Given the description of an element on the screen output the (x, y) to click on. 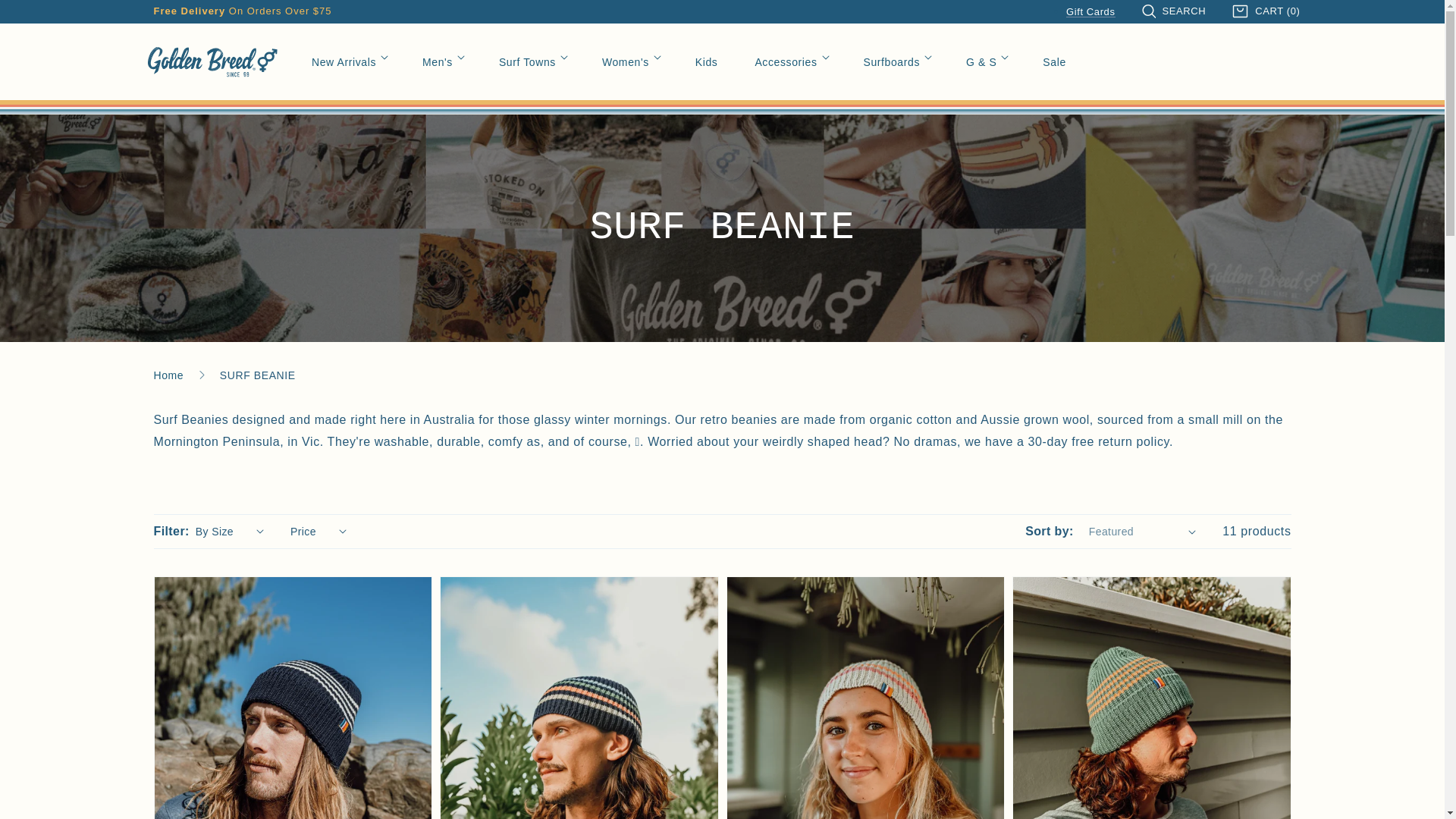
Skip content (45, 16)
Home (167, 375)
Gift Cards (1090, 11)
